Given the description of an element on the screen output the (x, y) to click on. 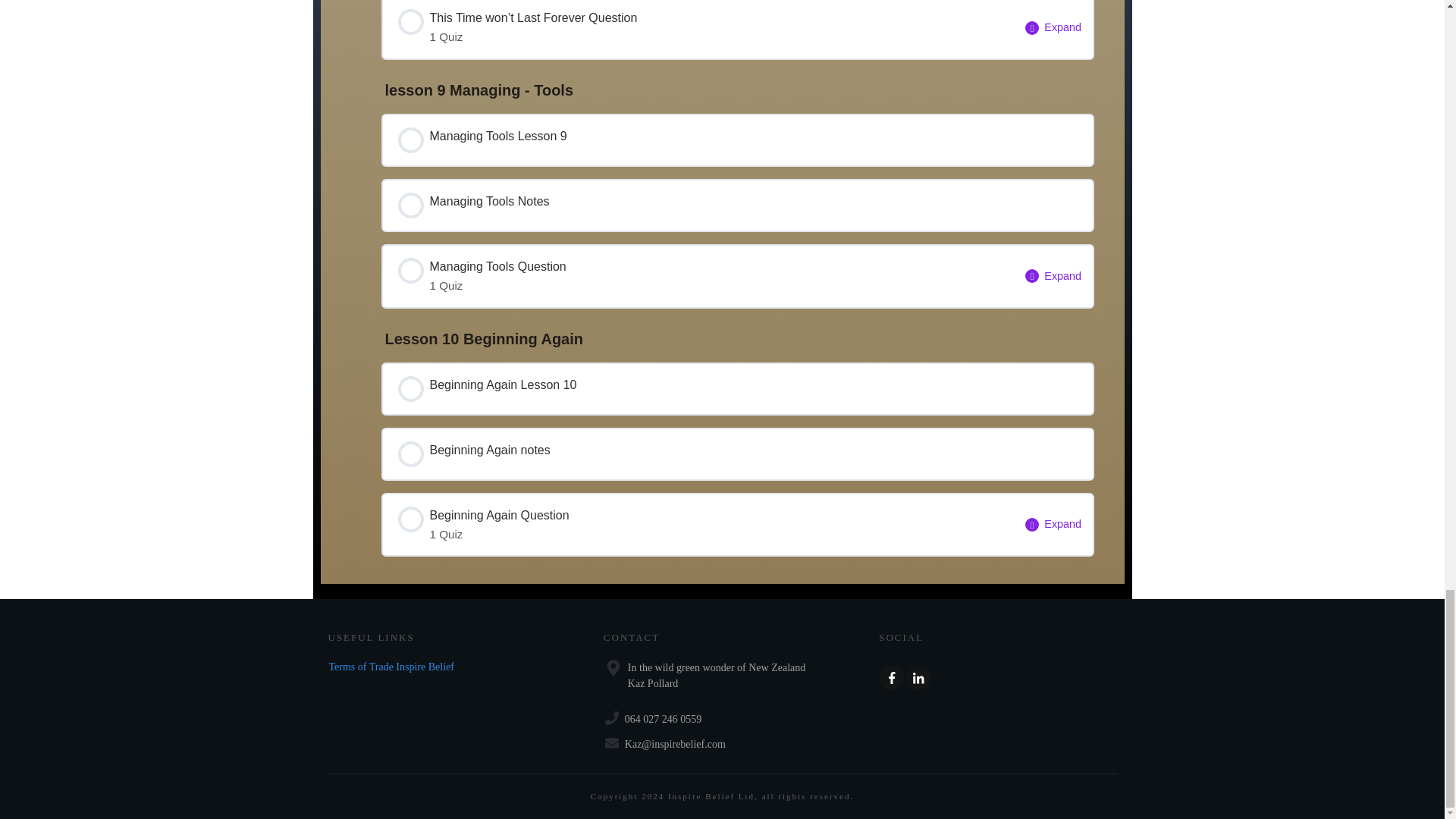
Beginning Again Lesson 10 (736, 388)
Terms of Trade Inspire Belief (697, 525)
Beginning Again notes (391, 666)
Managing Tools Lesson 9 (736, 454)
Managing Tools Notes (736, 140)
